Given the description of an element on the screen output the (x, y) to click on. 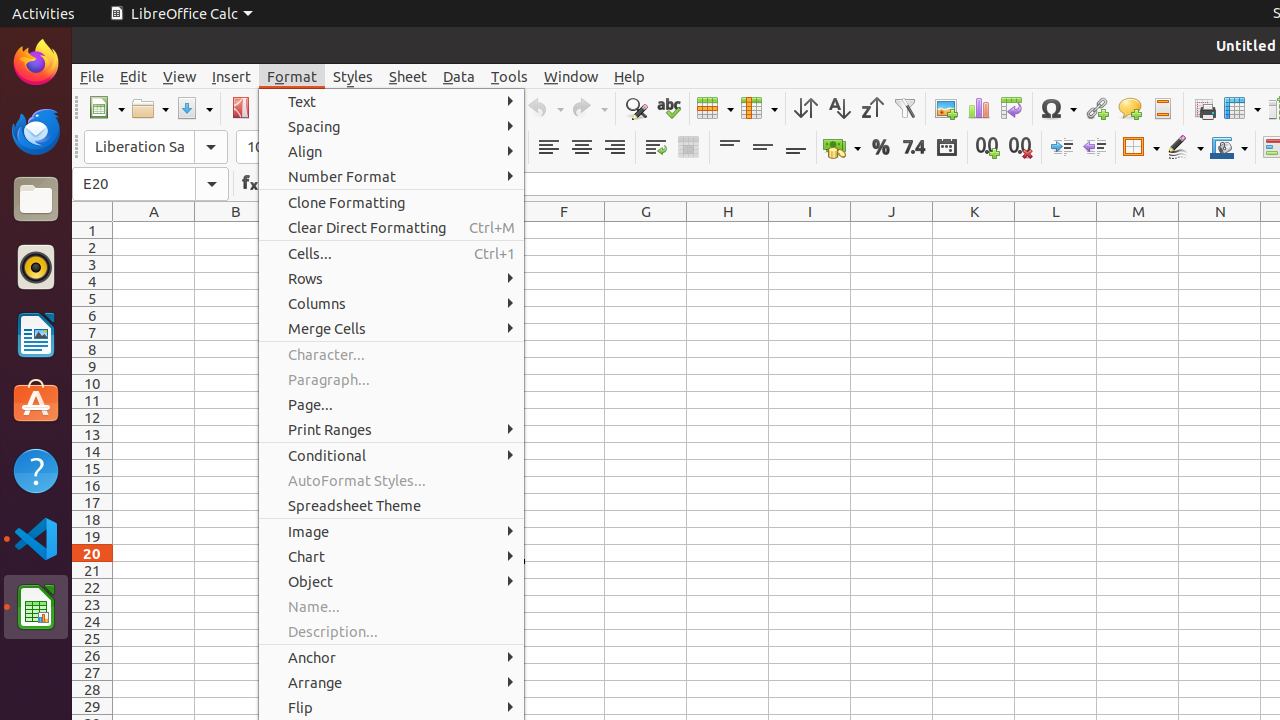
Date Element type: push-button (946, 147)
Align Left Element type: push-button (548, 147)
J1 Element type: table-cell (892, 230)
Chart Element type: push-button (978, 108)
Description... Element type: menu-item (391, 631)
